Given the description of an element on the screen output the (x, y) to click on. 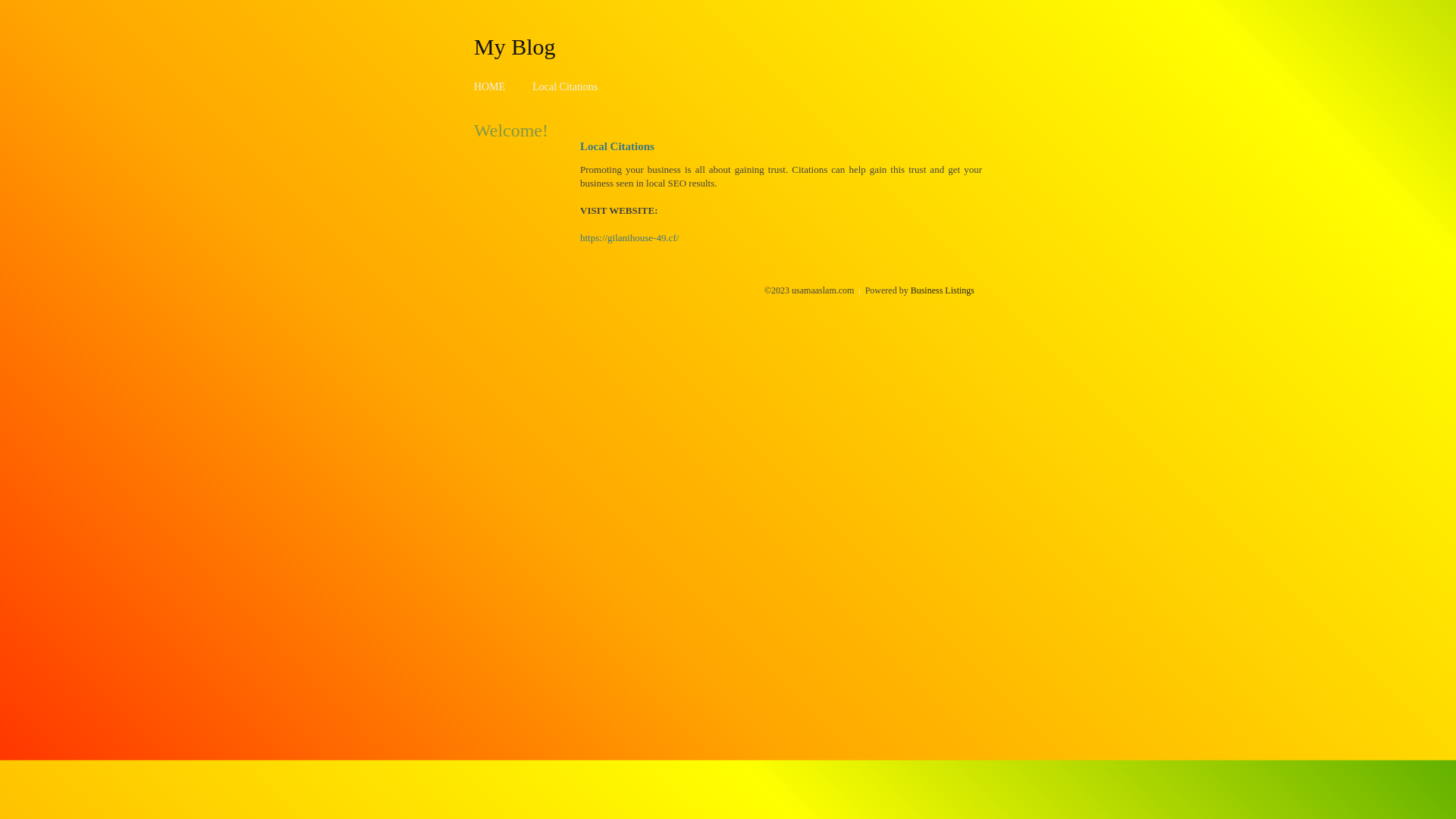
Local Citations Element type: text (564, 86)
Business Listings Element type: text (942, 290)
https://gilanihouse-49.cf/ Element type: text (629, 237)
HOME Element type: text (489, 86)
My Blog Element type: text (514, 46)
